Given the description of an element on the screen output the (x, y) to click on. 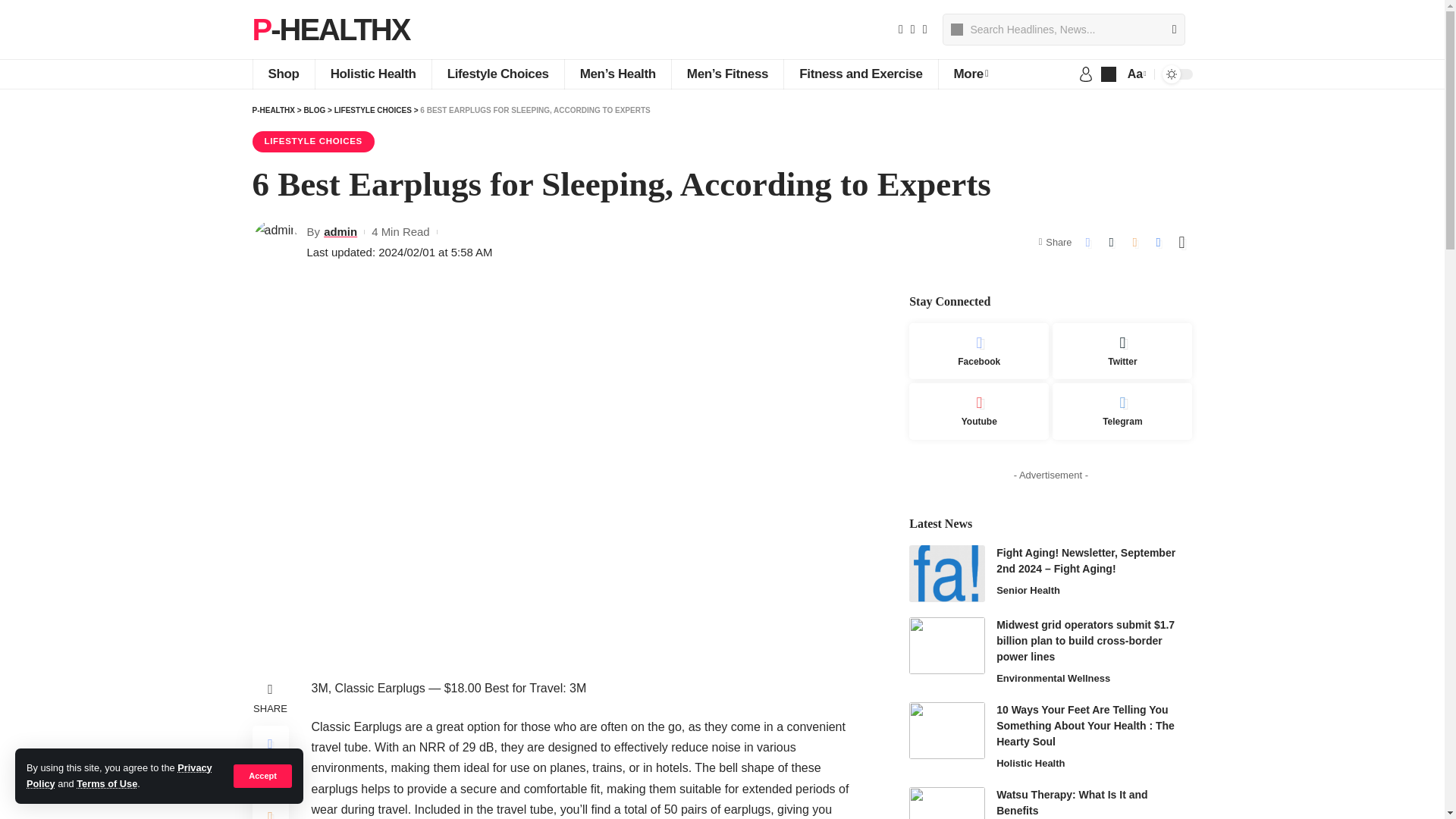
Search (1168, 29)
Fitness and Exercise (860, 73)
More (970, 73)
Privacy Policy (119, 775)
Go to Blog. (313, 110)
P-HealthX (330, 29)
Shop (282, 73)
Terms of Use (106, 783)
P-HEALTHX (330, 29)
Lifestyle Choices (497, 73)
